Given the description of an element on the screen output the (x, y) to click on. 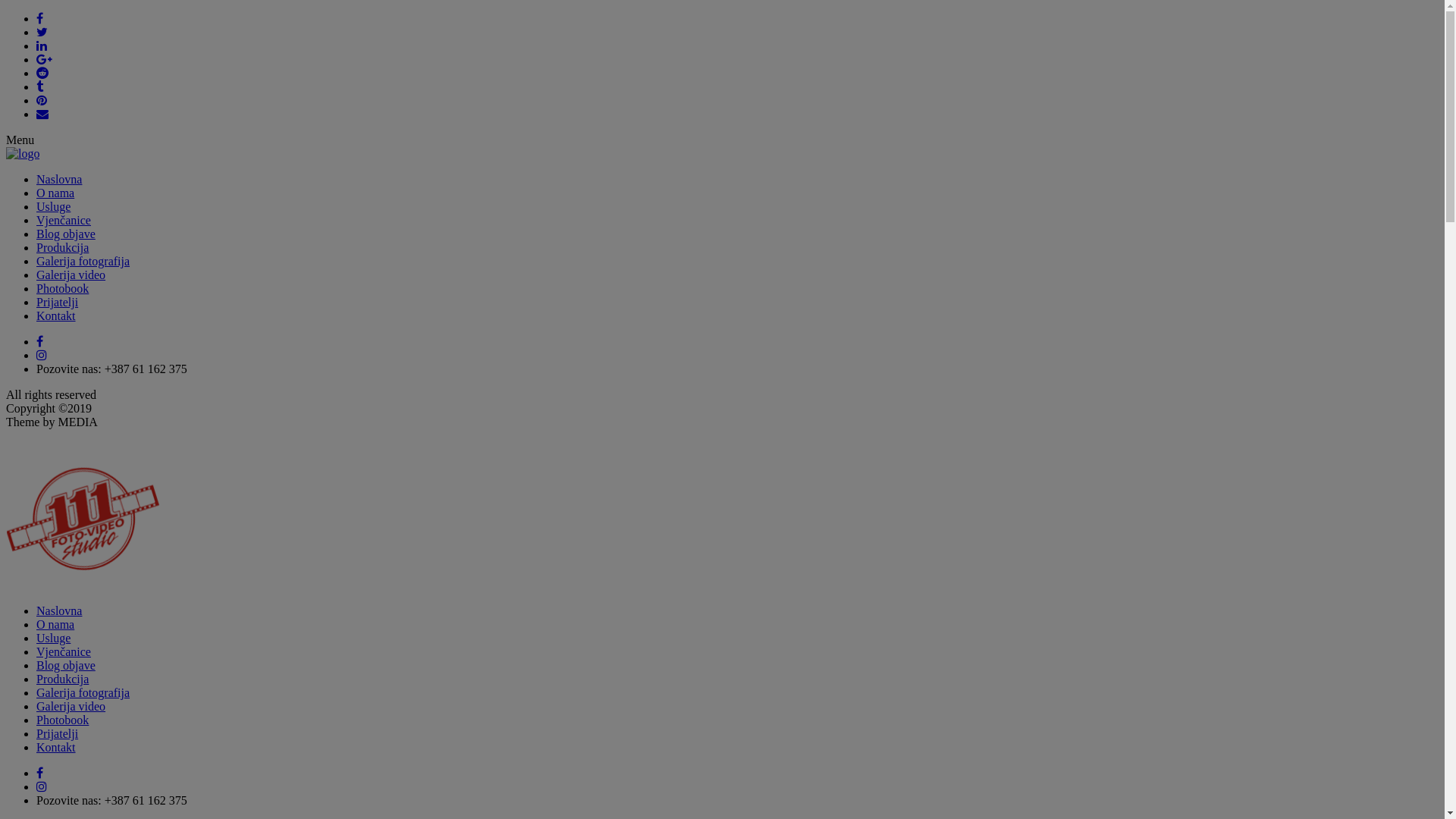
Facebook Element type: hover (39, 341)
Kontakt Element type: text (55, 746)
Usluge Element type: text (53, 637)
Photobook Element type: text (62, 288)
Kontakt Element type: text (55, 315)
Naslovna Element type: text (58, 178)
Galerija fotografija Element type: text (82, 692)
Facebook Element type: hover (39, 772)
Instagram Element type: hover (41, 786)
Galerija video Element type: text (70, 705)
Blog objave Element type: text (65, 664)
Produkcija Element type: text (62, 247)
O nama Element type: text (55, 192)
Galerija fotografija Element type: text (82, 260)
Galerija video Element type: text (70, 274)
Produkcija Element type: text (62, 678)
Prijatelji Element type: text (57, 301)
Naslovna Element type: text (58, 610)
Photobook Element type: text (62, 719)
Prijatelji Element type: text (57, 733)
Blog objave Element type: text (65, 233)
O nama Element type: text (55, 624)
Usluge Element type: text (53, 206)
Instagram Element type: hover (41, 354)
